Given the description of an element on the screen output the (x, y) to click on. 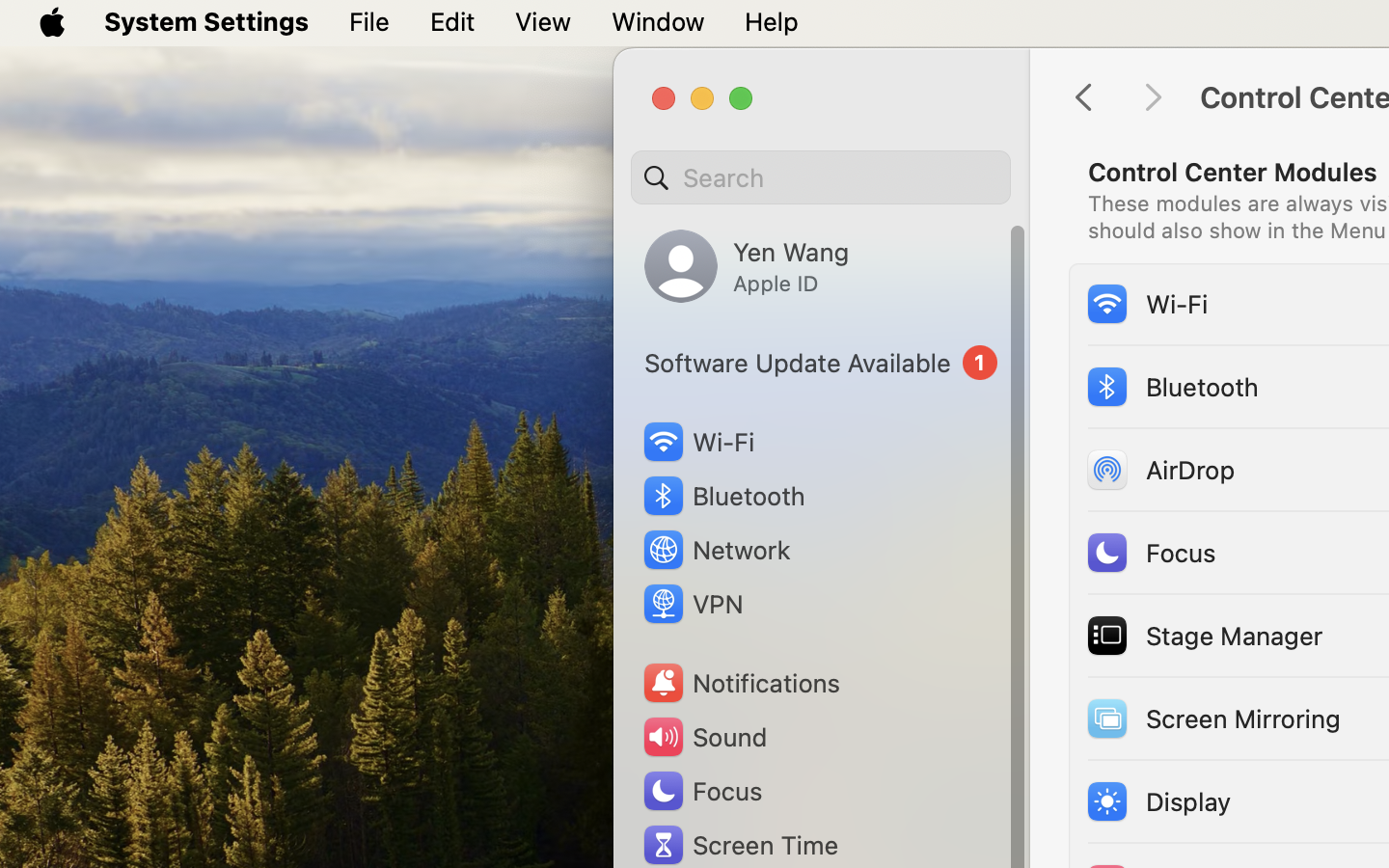
Screen Mirroring Element type: AXStaticText (1212, 717)
Wi‑Fi Element type: AXStaticText (1145, 302)
Yen Wang, Apple ID Element type: AXStaticText (746, 265)
Focus Element type: AXStaticText (1149, 551)
